Given the description of an element on the screen output the (x, y) to click on. 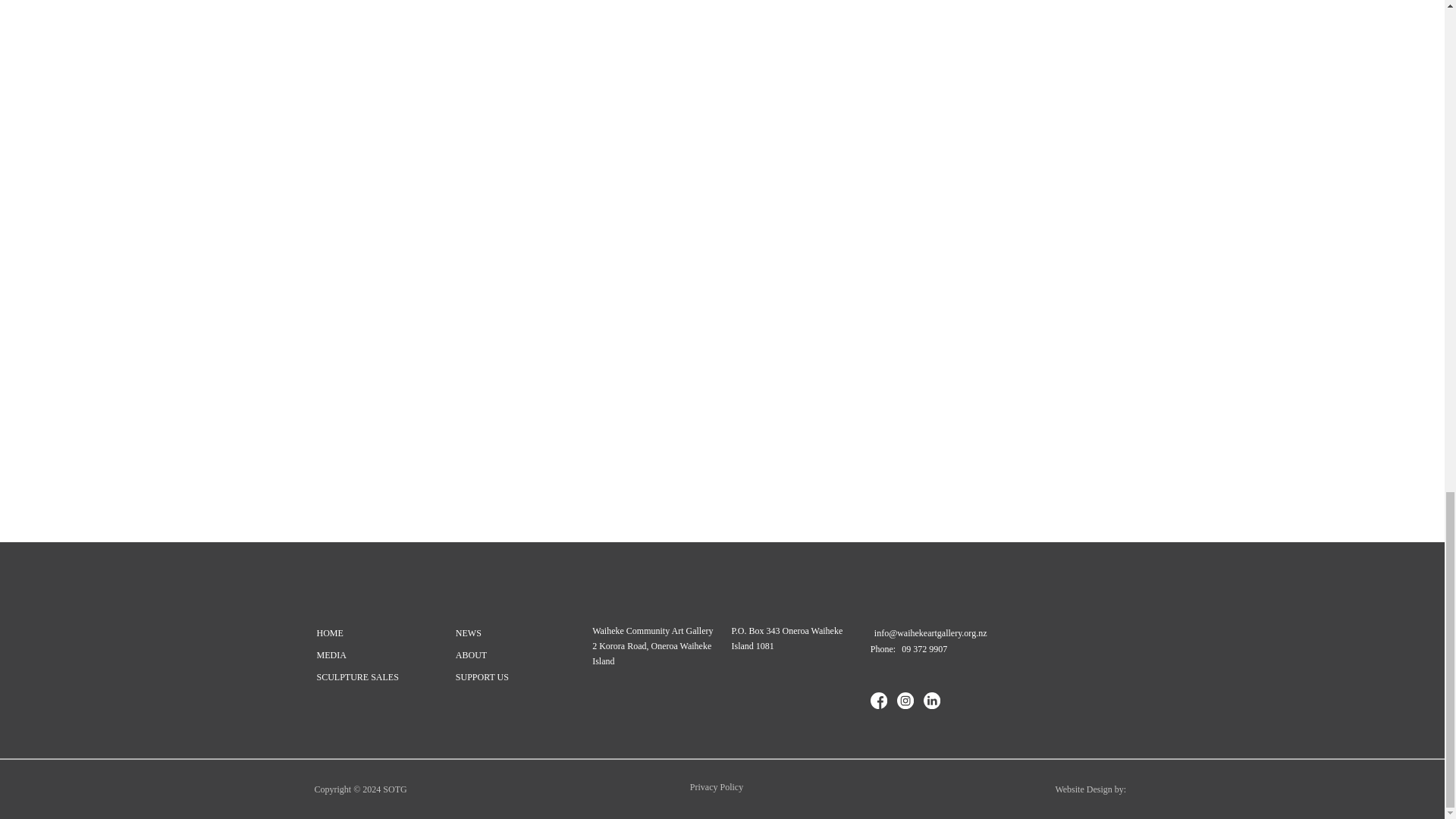
ABOUT (470, 653)
09 372 9907 (924, 648)
HOME (329, 631)
MEDIA (330, 653)
Privacy Policy (716, 787)
SUPPORT US (481, 675)
SCULPTURE SALES (357, 675)
NEWS (467, 631)
